Given the description of an element on the screen output the (x, y) to click on. 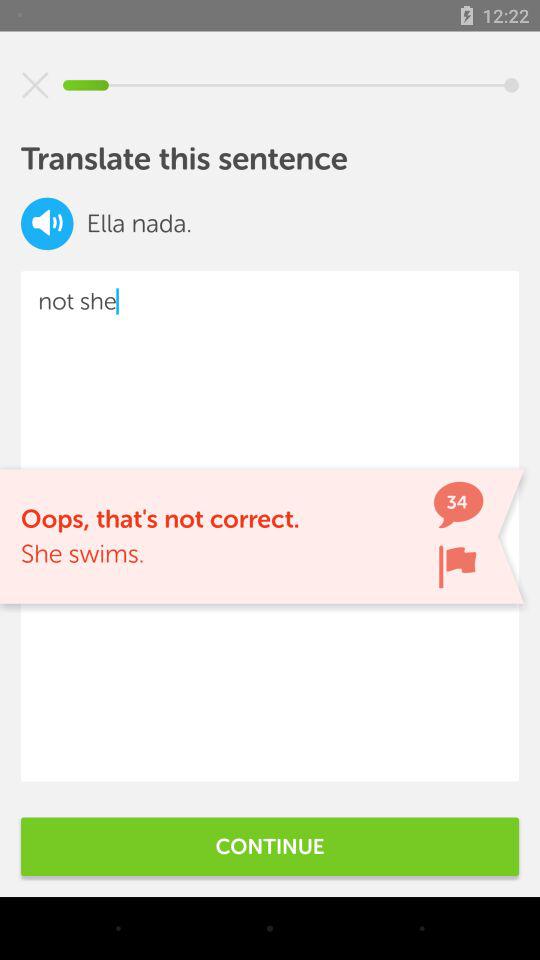
choose the not she icon (270, 526)
